Given the description of an element on the screen output the (x, y) to click on. 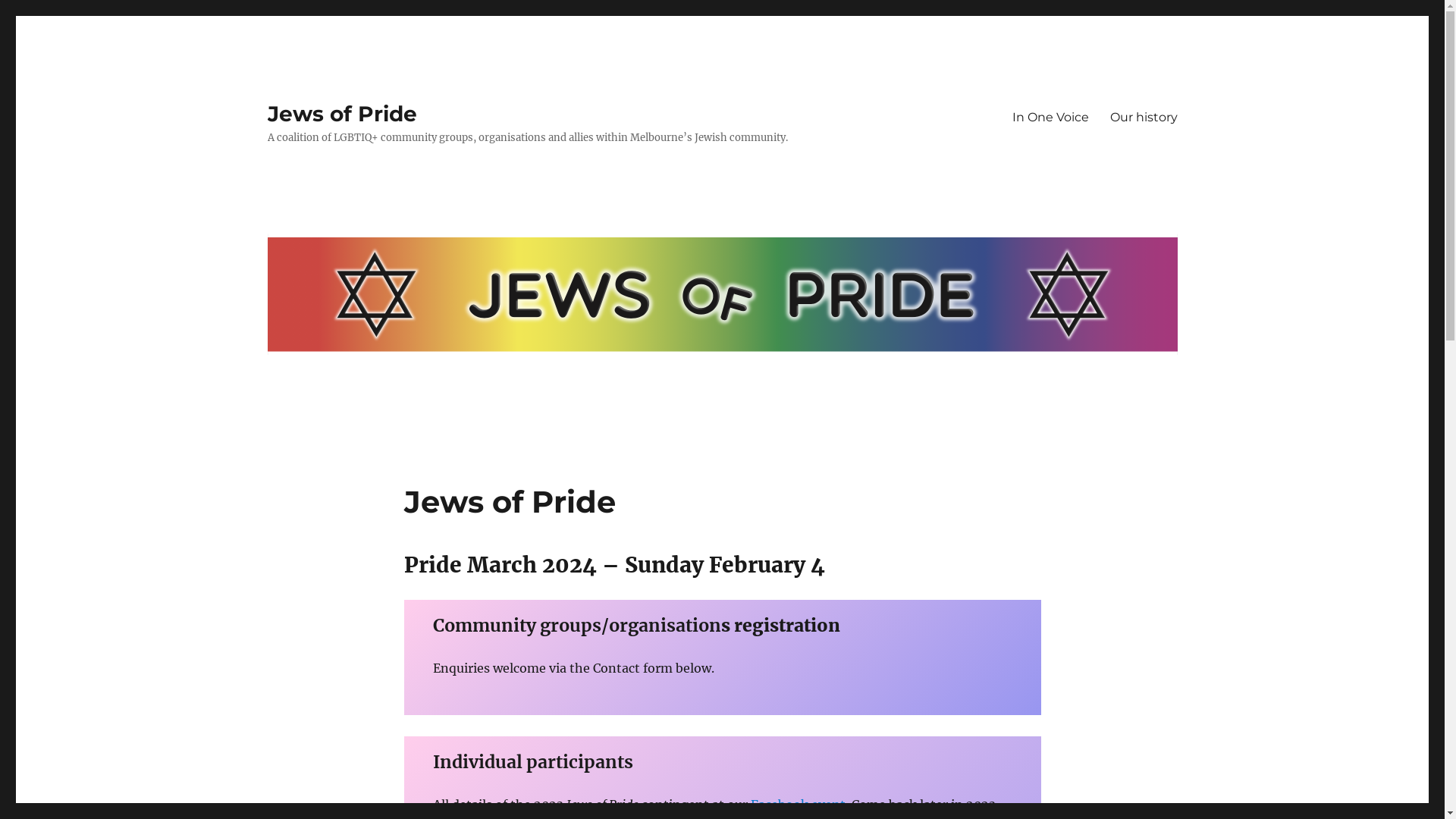
In One Voice Element type: text (1049, 116)
Jews of Pride Element type: text (341, 113)
Our history Element type: text (1143, 116)
Facebook event Element type: text (797, 804)
